Given the description of an element on the screen output the (x, y) to click on. 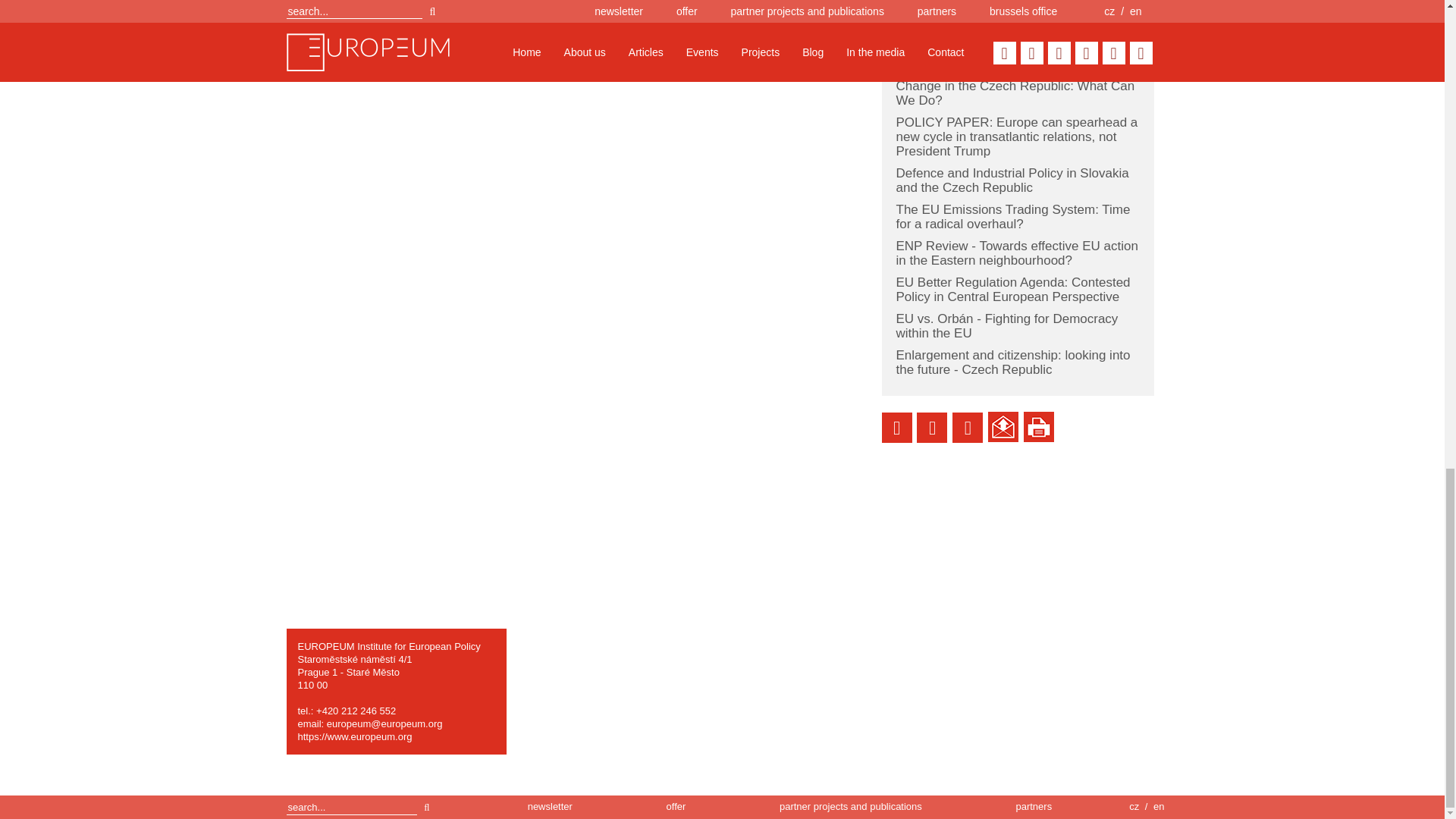
newsletter (549, 806)
